Given the description of an element on the screen output the (x, y) to click on. 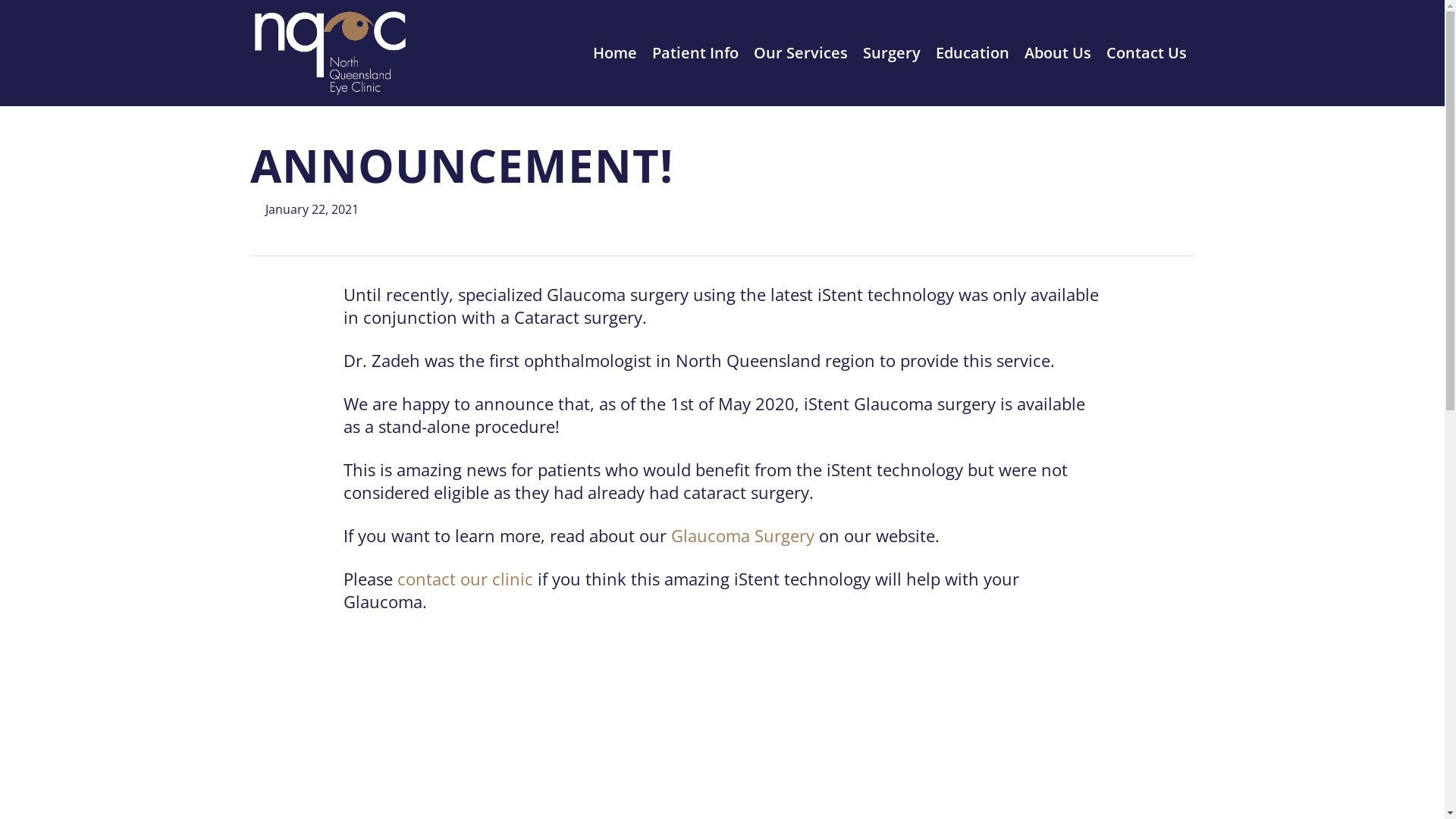
Patient Info Element type: text (695, 52)
contact our clinic Element type: text (465, 578)
Home Element type: text (614, 52)
Contact Us Element type: text (1146, 52)
Glaucoma Surgery Element type: text (742, 535)
Education Element type: text (972, 52)
Surgery Element type: text (891, 52)
About Us Element type: text (1057, 52)
Our Services Element type: text (800, 52)
